Given the description of an element on the screen output the (x, y) to click on. 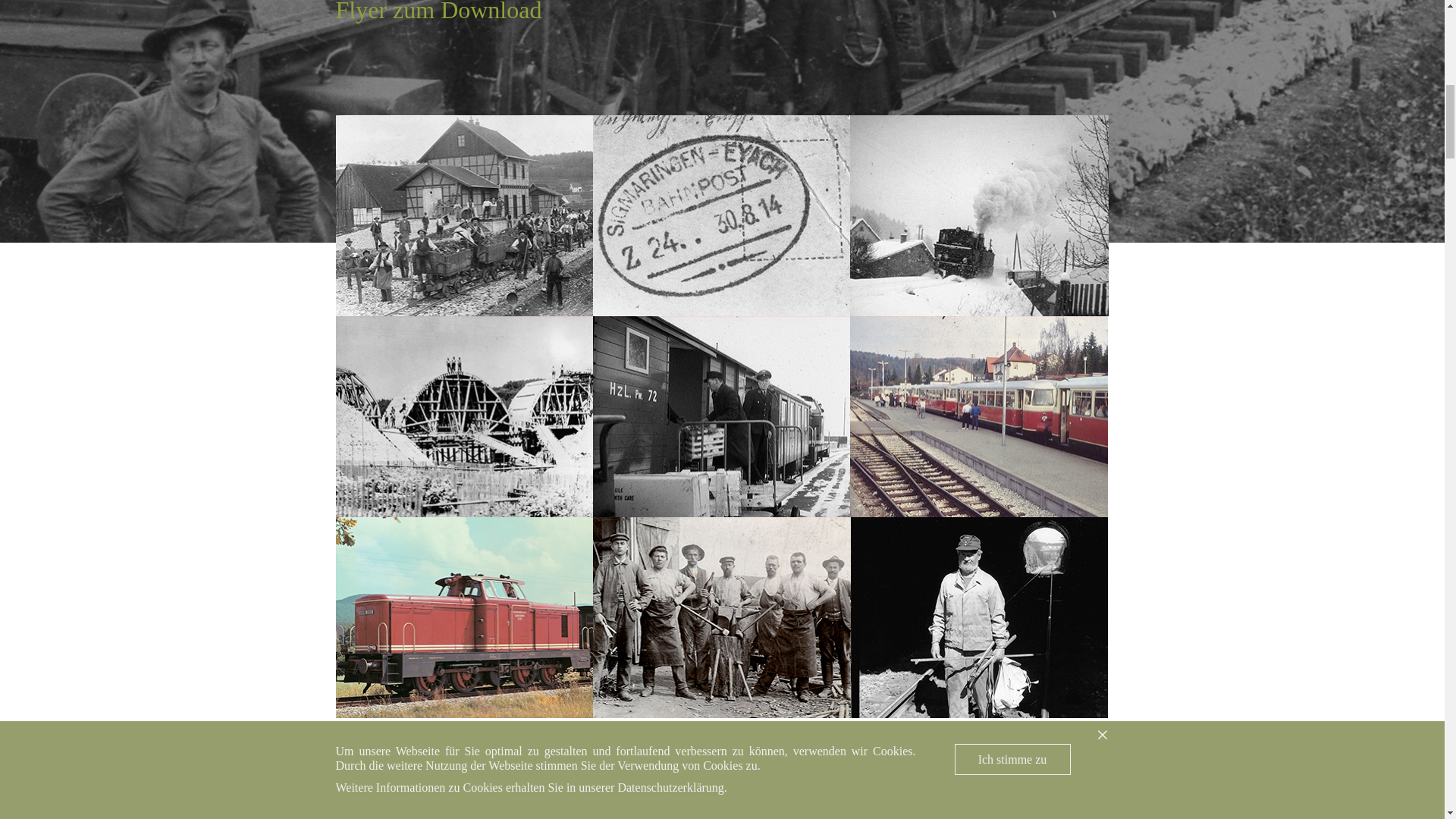
Flyer zum Download (437, 11)
